Given the description of an element on the screen output the (x, y) to click on. 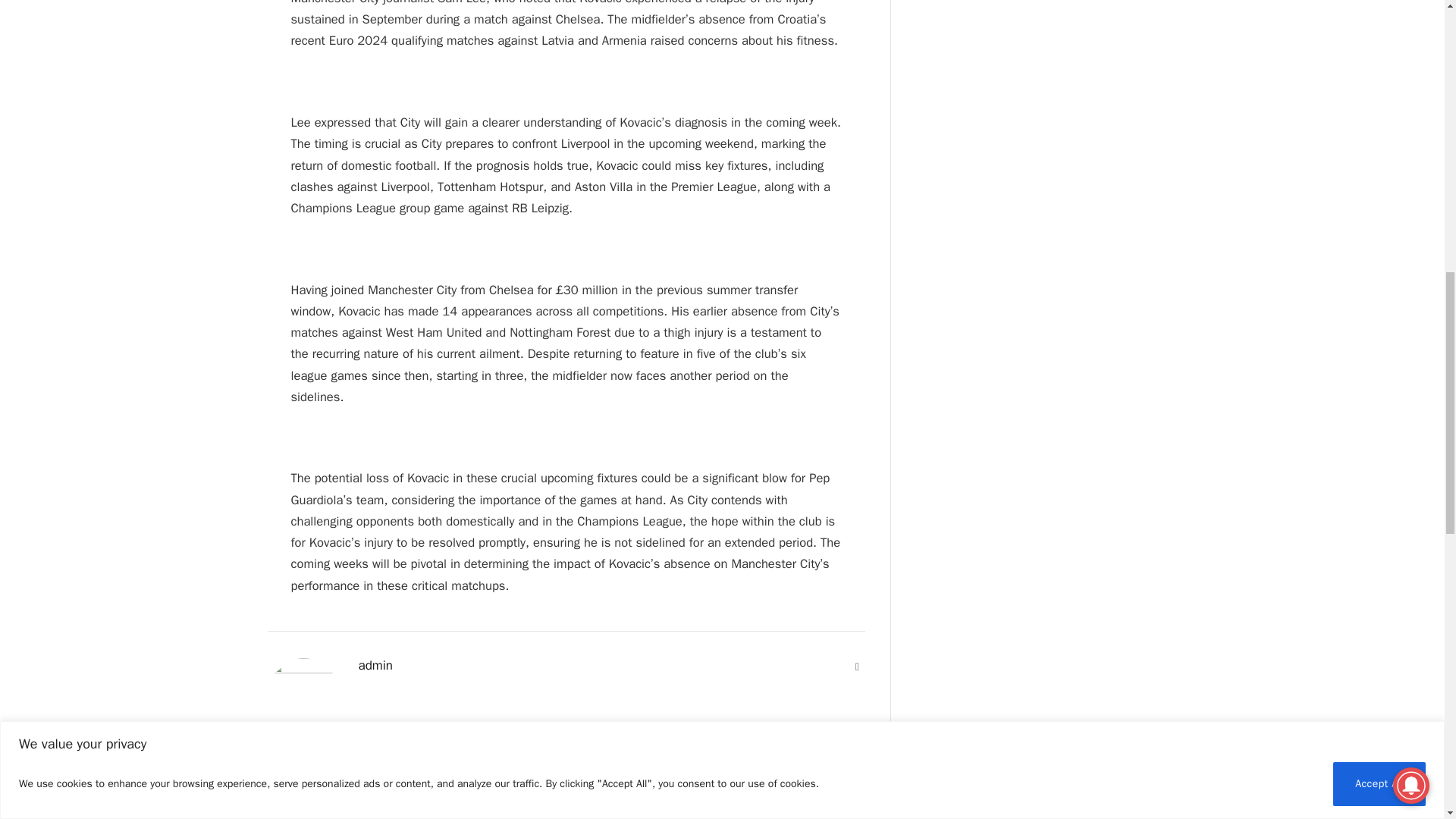
Website (856, 667)
Posts by admin (375, 665)
Website (856, 667)
admin (375, 665)
